Given the description of an element on the screen output the (x, y) to click on. 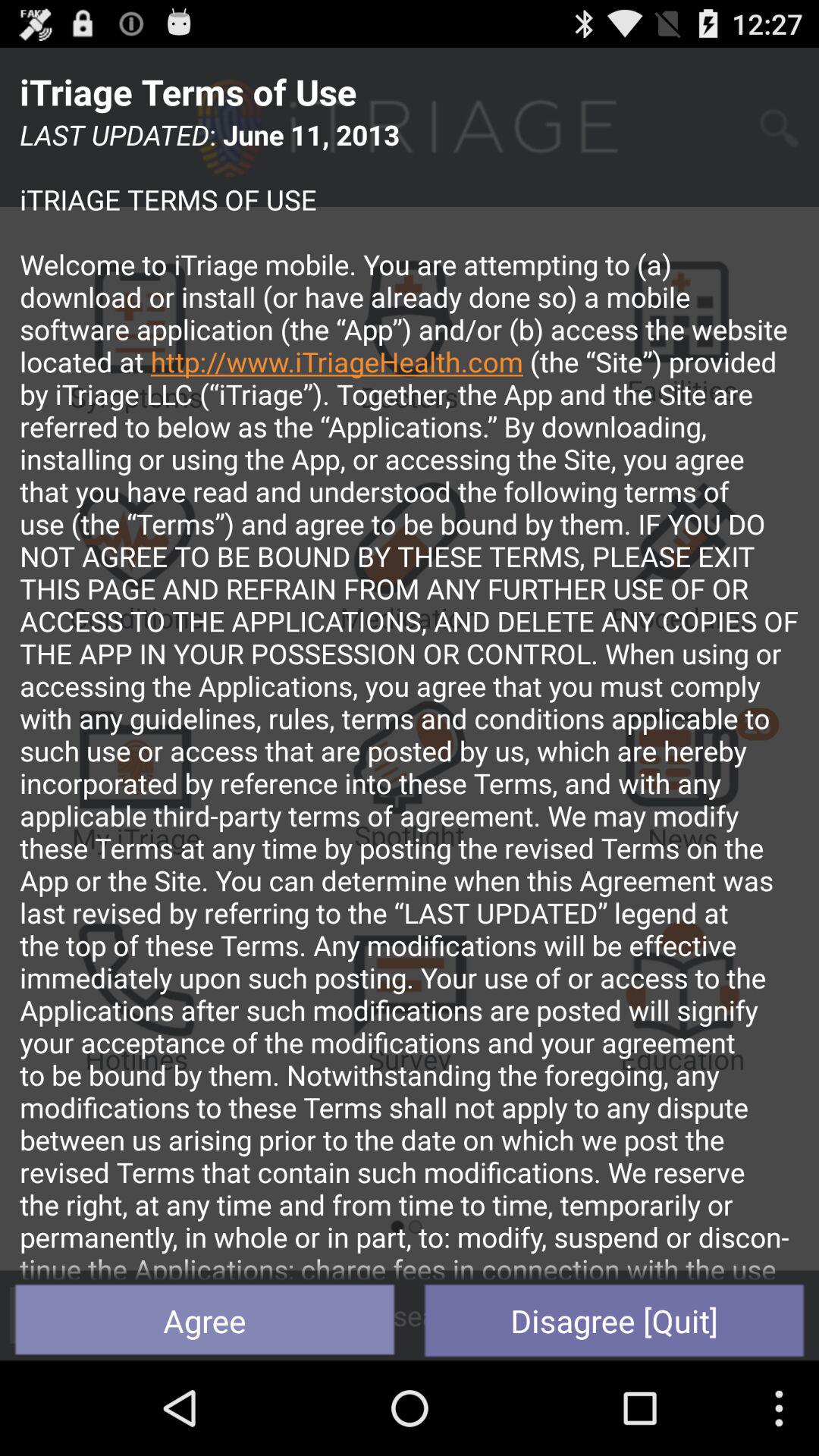
press app below itriage terms of app (409, 698)
